Given the description of an element on the screen output the (x, y) to click on. 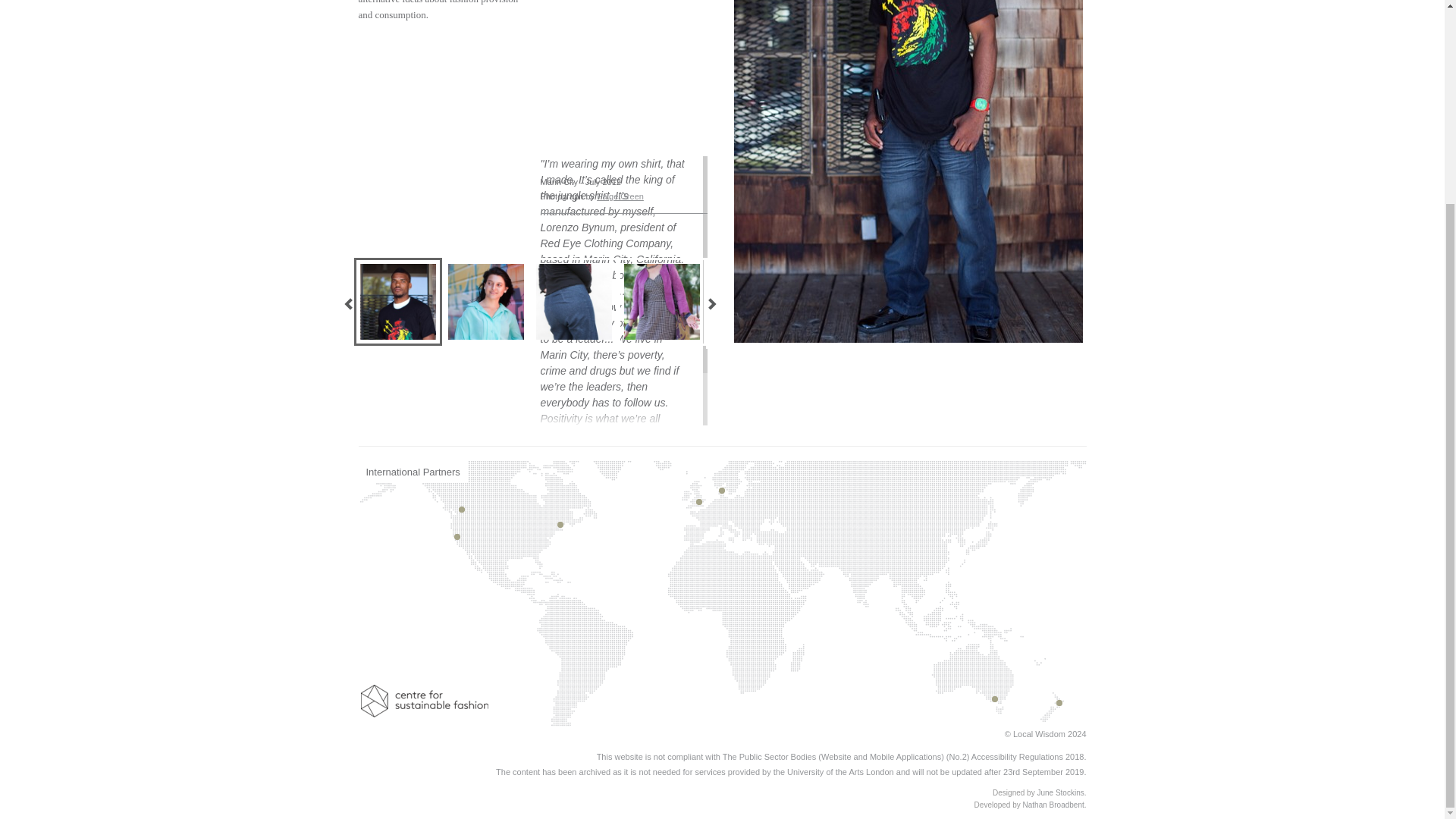
Click for More (749, 301)
Click for More (308, 301)
Click for More (397, 301)
Click for More (573, 301)
Click for More (660, 301)
Click for More (484, 301)
